Given the description of an element on the screen output the (x, y) to click on. 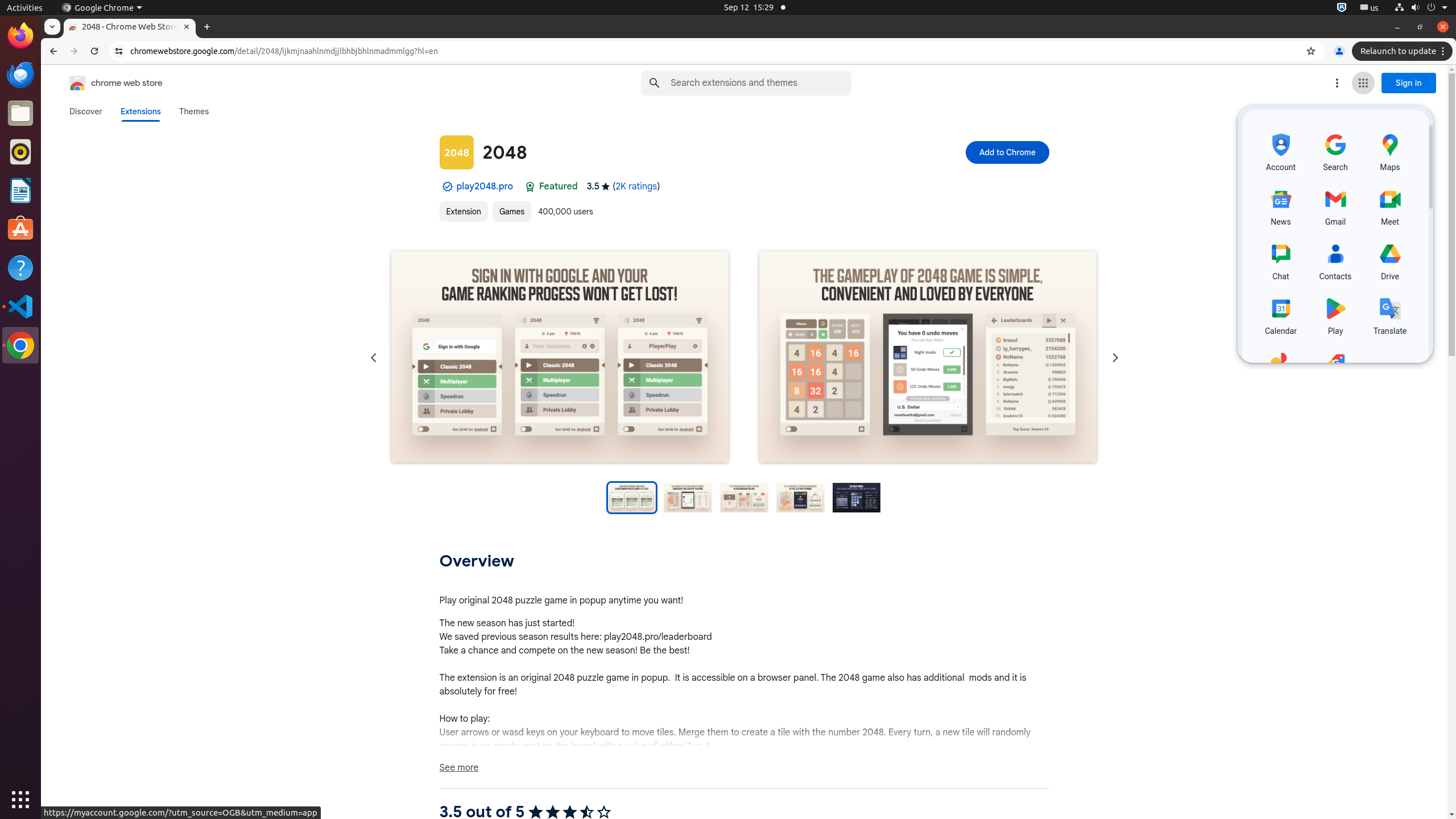
Item logo image for 2048 2048 Element type: link (666, 152)
Drive, row 3 of 5 and column 3 of 3 in the first section (opens a new tab) Element type: link (1389, 259)
Item media 1 screenshot Element type: push-button (559, 357)
Next slide Element type: push-button (1114, 357)
Extension Element type: link (463, 211)
